Given the description of an element on the screen output the (x, y) to click on. 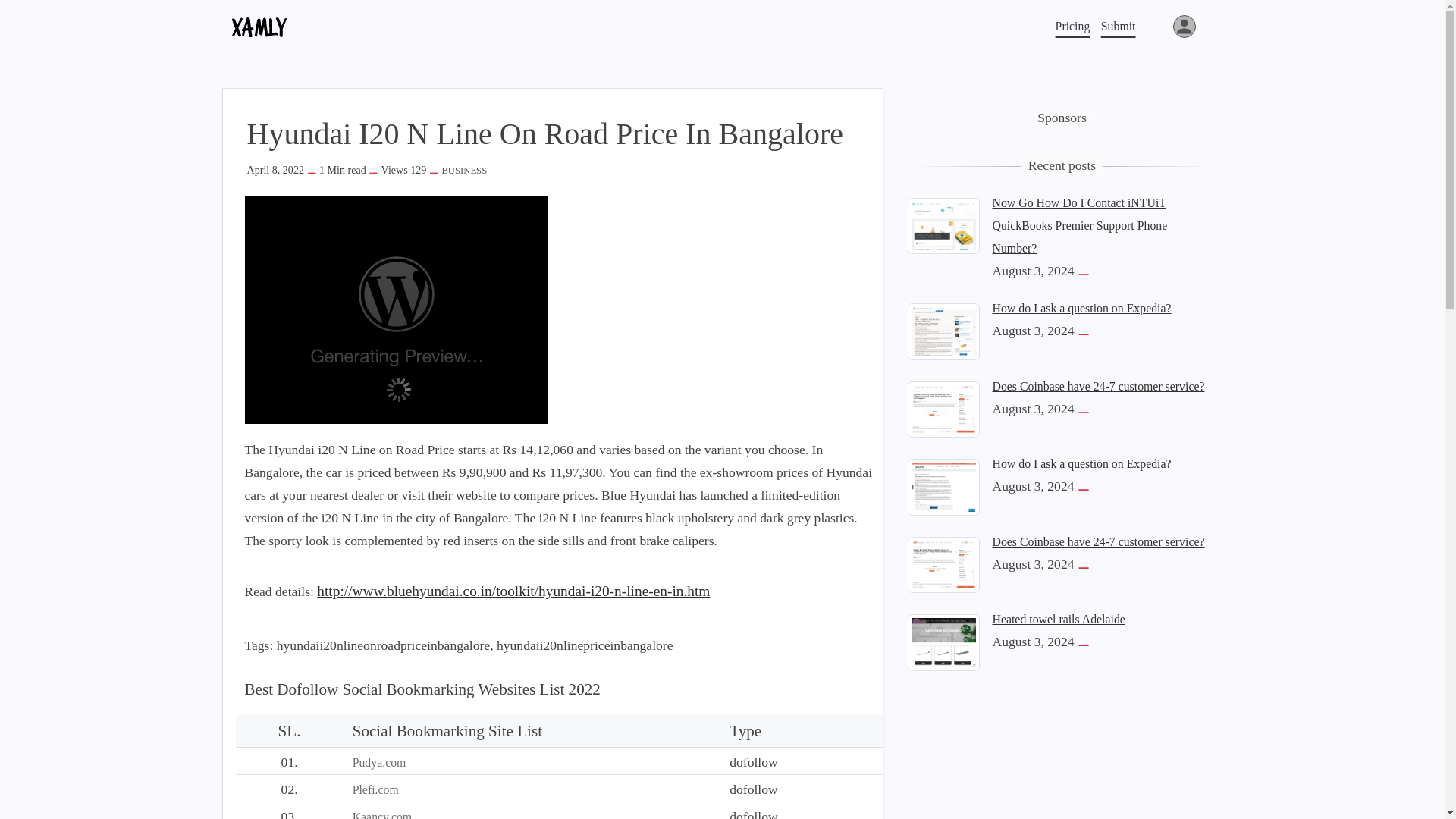
How do I ask a question on Expedia? (943, 485)
How do I ask a question on Expedia? (943, 330)
How do I ask a question on Expedia? (1080, 308)
Pudya.com (379, 762)
Kaancy.com (382, 814)
BUSINESS (463, 170)
Does Coinbase have 24-7 customer service? (1097, 386)
How do I ask a question on Expedia? (1080, 463)
Does Coinbase have 24-7 customer service? (943, 407)
Pricing (1072, 25)
